Given the description of an element on the screen output the (x, y) to click on. 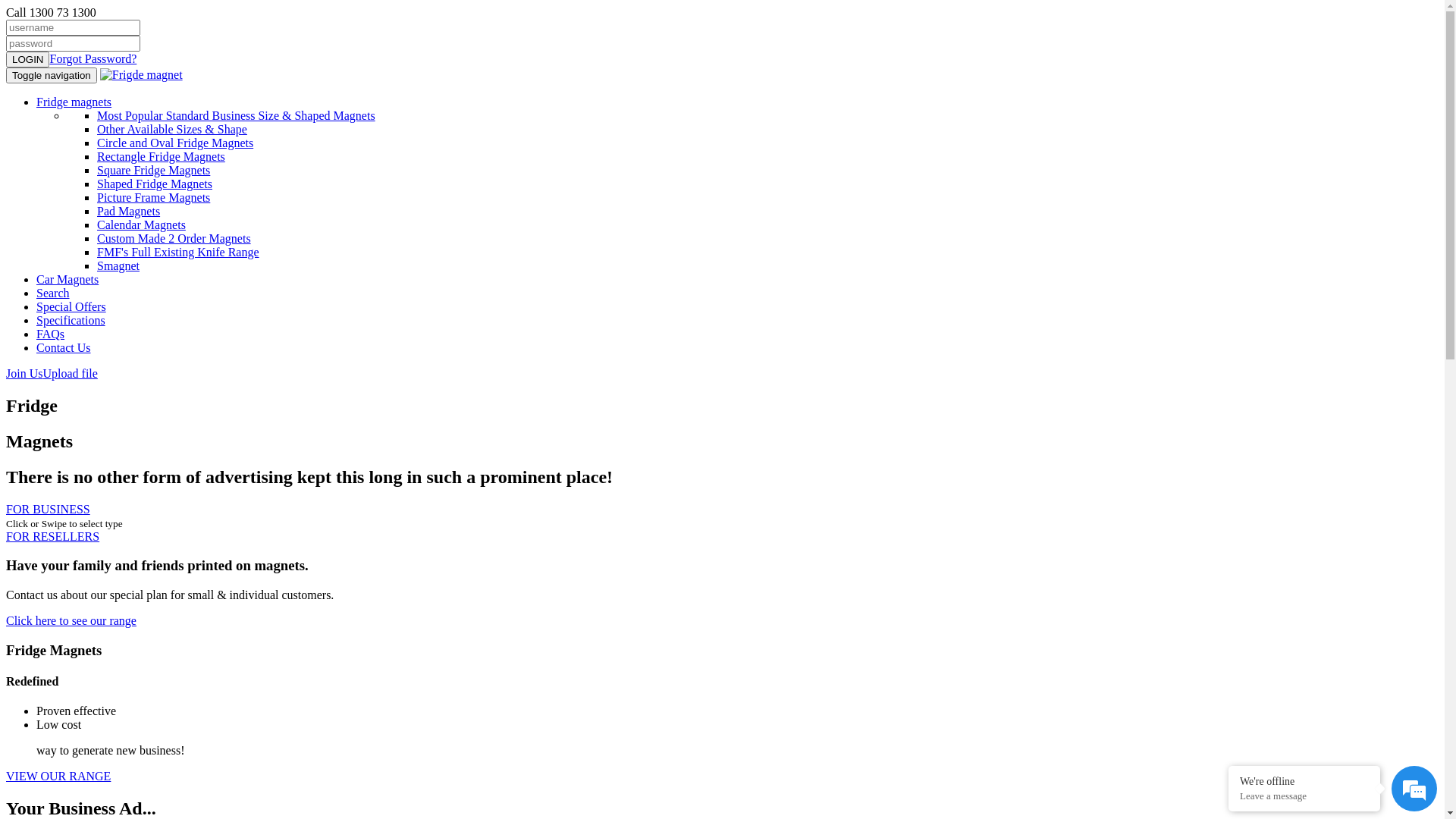
Join Us Element type: text (24, 373)
Picture Frame Magnets Element type: text (153, 197)
Pad Magnets Element type: text (128, 210)
Square Fridge Magnets Element type: text (153, 169)
LOGIN Element type: text (27, 59)
Calendar Magnets Element type: text (141, 224)
Click here to see our range Element type: text (71, 620)
FOR BUSINESS Element type: text (48, 508)
Forgot Password? Element type: text (92, 58)
FMF's Full Existing Knife Range Element type: text (178, 251)
Smagnet Element type: text (118, 265)
Custom Made 2 Order Magnets Element type: text (174, 238)
VIEW OUR RANGE Element type: text (58, 775)
Circle and Oval Fridge Magnets Element type: text (175, 142)
Search Element type: text (52, 292)
Shaped Fridge Magnets Element type: text (154, 183)
Car Magnets Element type: text (67, 279)
Contact Us Element type: text (63, 347)
Most Popular Standard Business Size & Shaped Magnets Element type: text (236, 115)
Rectangle Fridge Magnets Element type: text (161, 156)
Special Offers Element type: text (71, 306)
Specifications Element type: text (70, 319)
FAQs Element type: text (50, 333)
Upload file Element type: text (69, 373)
Toggle navigation Element type: text (51, 75)
FOR RESELLERS Element type: text (52, 536)
Other Available Sizes & Shape Element type: text (172, 128)
Fridge magnets Element type: text (73, 101)
